Given the description of an element on the screen output the (x, y) to click on. 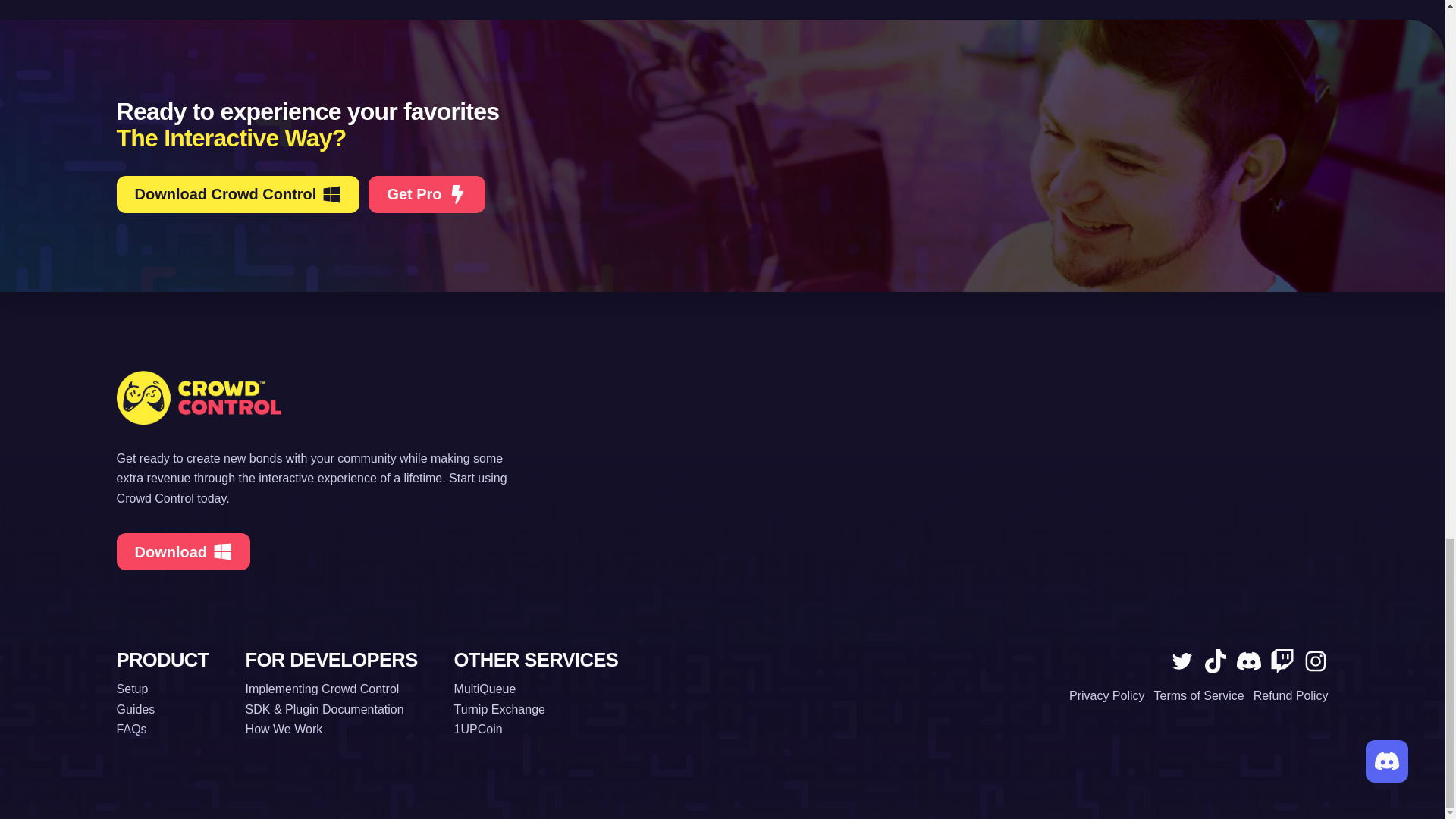
Download (183, 551)
Download Crowd Control (237, 194)
Crowd Control (721, 398)
Setup (162, 689)
Get Pro (426, 194)
